Given the description of an element on the screen output the (x, y) to click on. 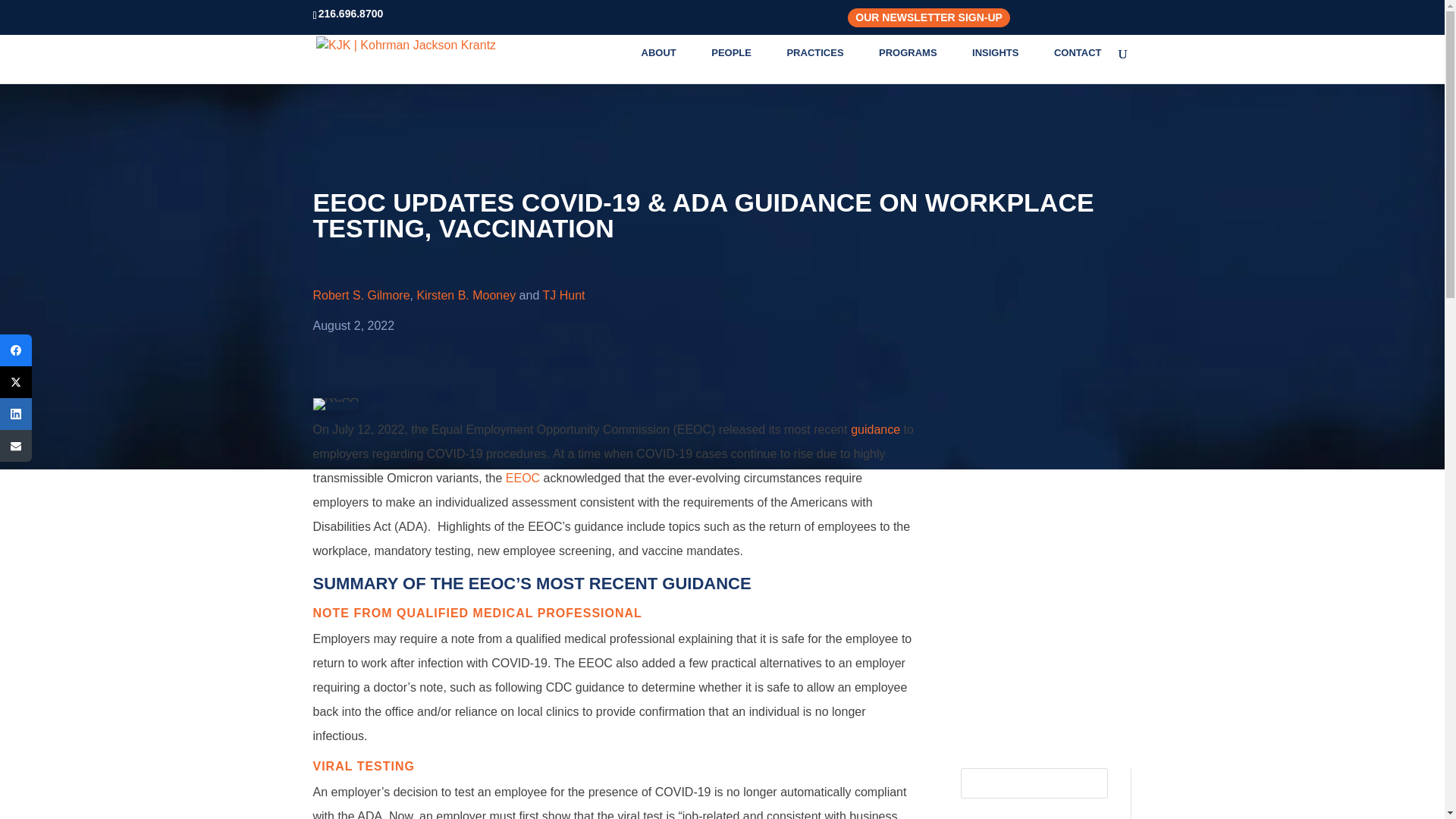
PEOPLE (739, 65)
PRACTICES (822, 65)
OUR NEWSLETTER SIGN-UP (929, 16)
Search (1086, 783)
ABOUT (666, 65)
